Given the description of an element on the screen output the (x, y) to click on. 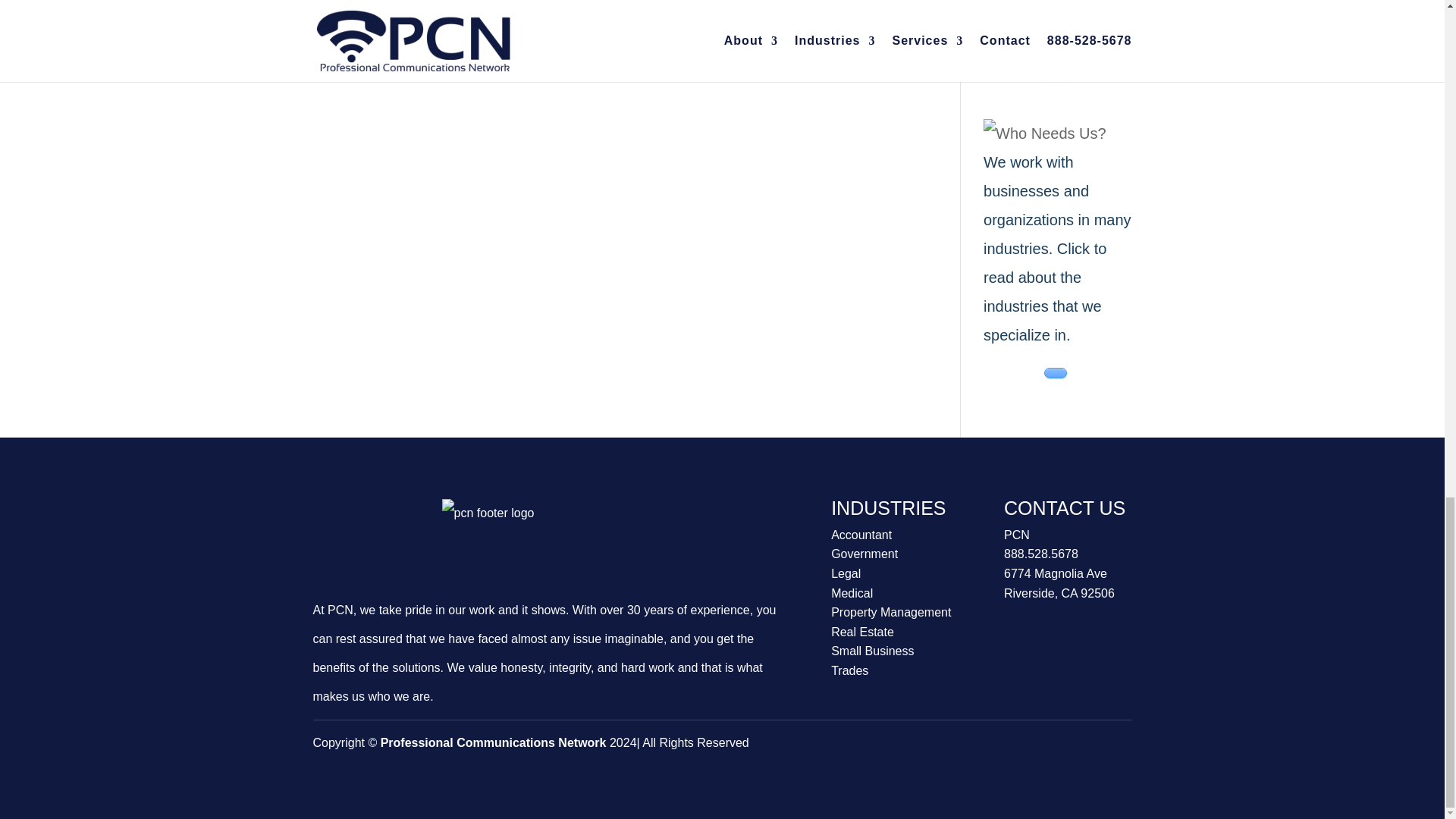
Real Estate (862, 631)
Accountant (861, 534)
Medical (851, 593)
Legal (845, 573)
Property Management (890, 612)
Government (864, 553)
